Given the description of an element on the screen output the (x, y) to click on. 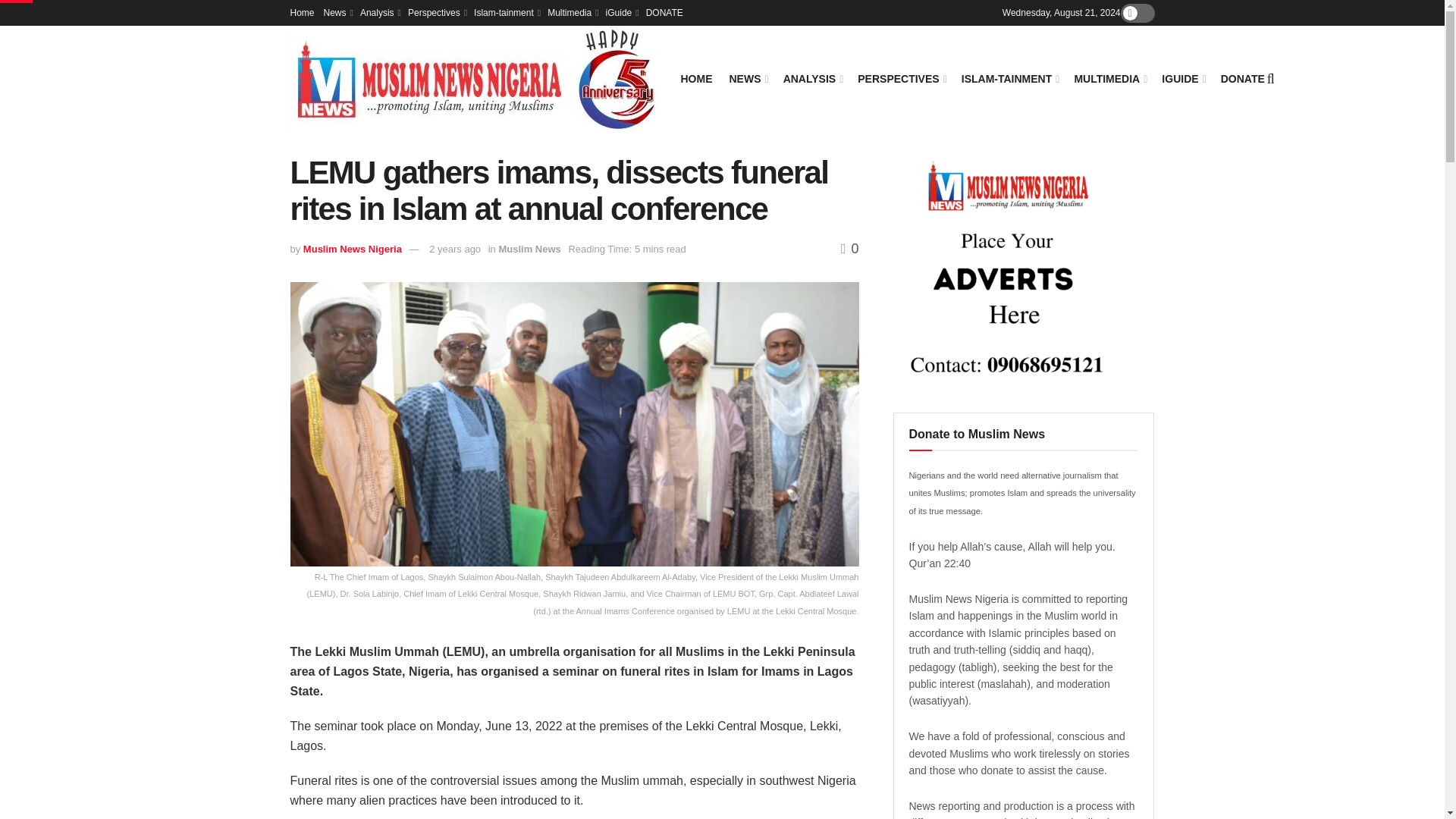
Analysis (378, 12)
Home (301, 12)
News (336, 12)
iGuide (621, 12)
DONATE (664, 12)
HOME (697, 78)
Perspectives (435, 12)
Multimedia (571, 12)
Islam-tainment (506, 12)
NEWS (748, 78)
